Given the description of an element on the screen output the (x, y) to click on. 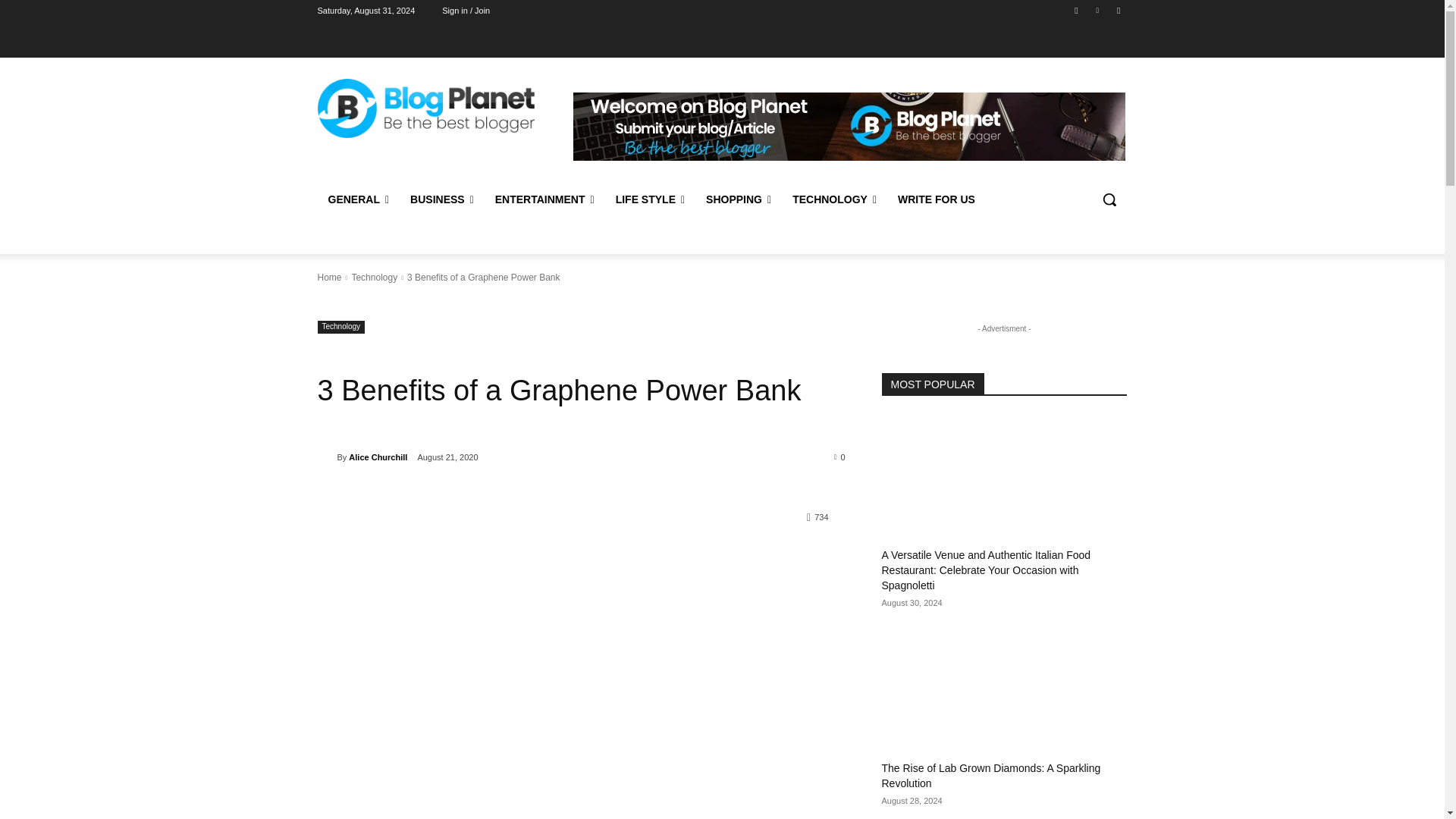
Linkedin (1097, 9)
Facebook (1075, 9)
Twitter (1117, 9)
GENERAL (357, 198)
Alice Churchill (326, 457)
View all posts in Technology (373, 276)
